Given the description of an element on the screen output the (x, y) to click on. 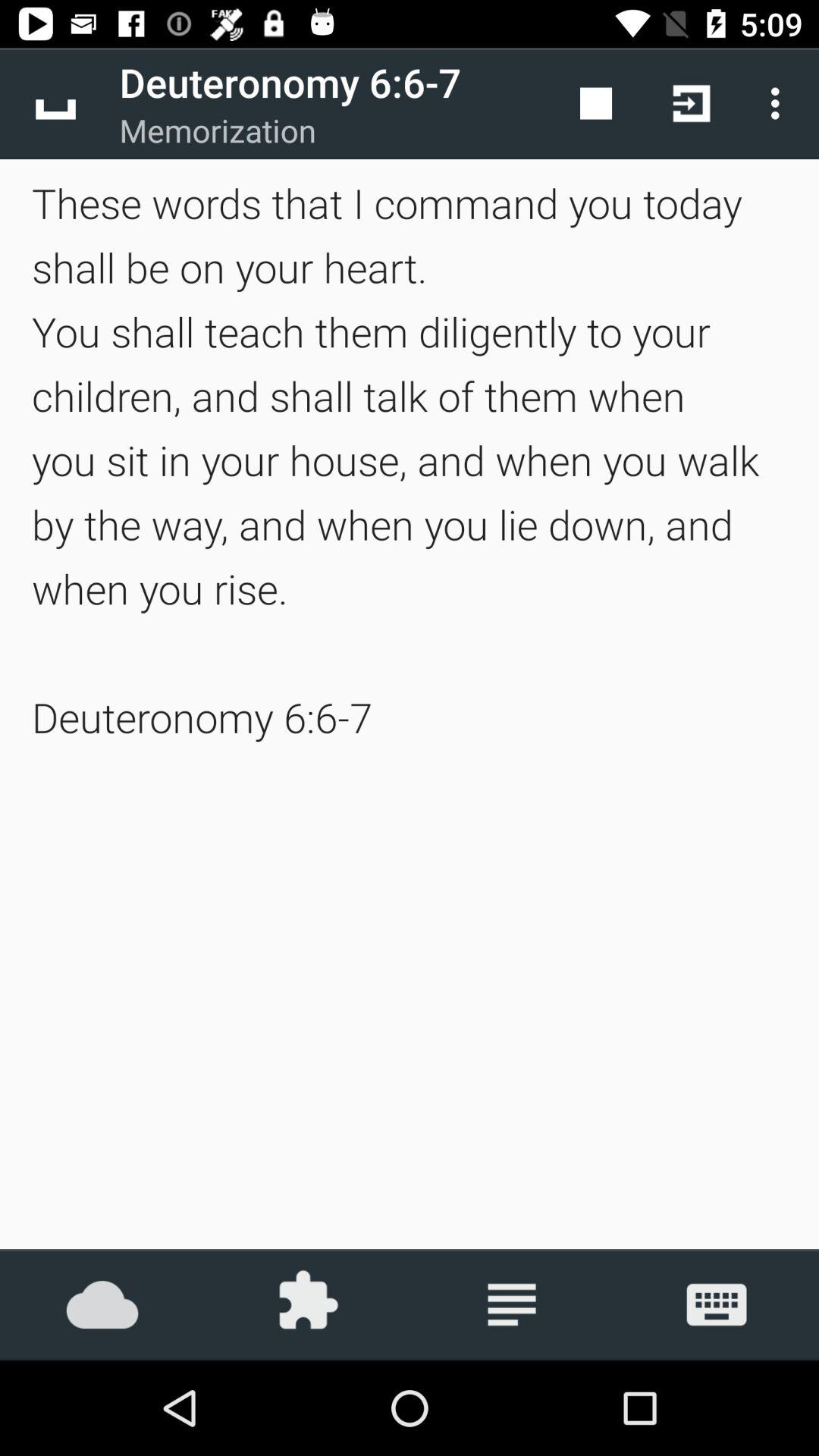
click the item at the bottom right corner (716, 1304)
